Given the description of an element on the screen output the (x, y) to click on. 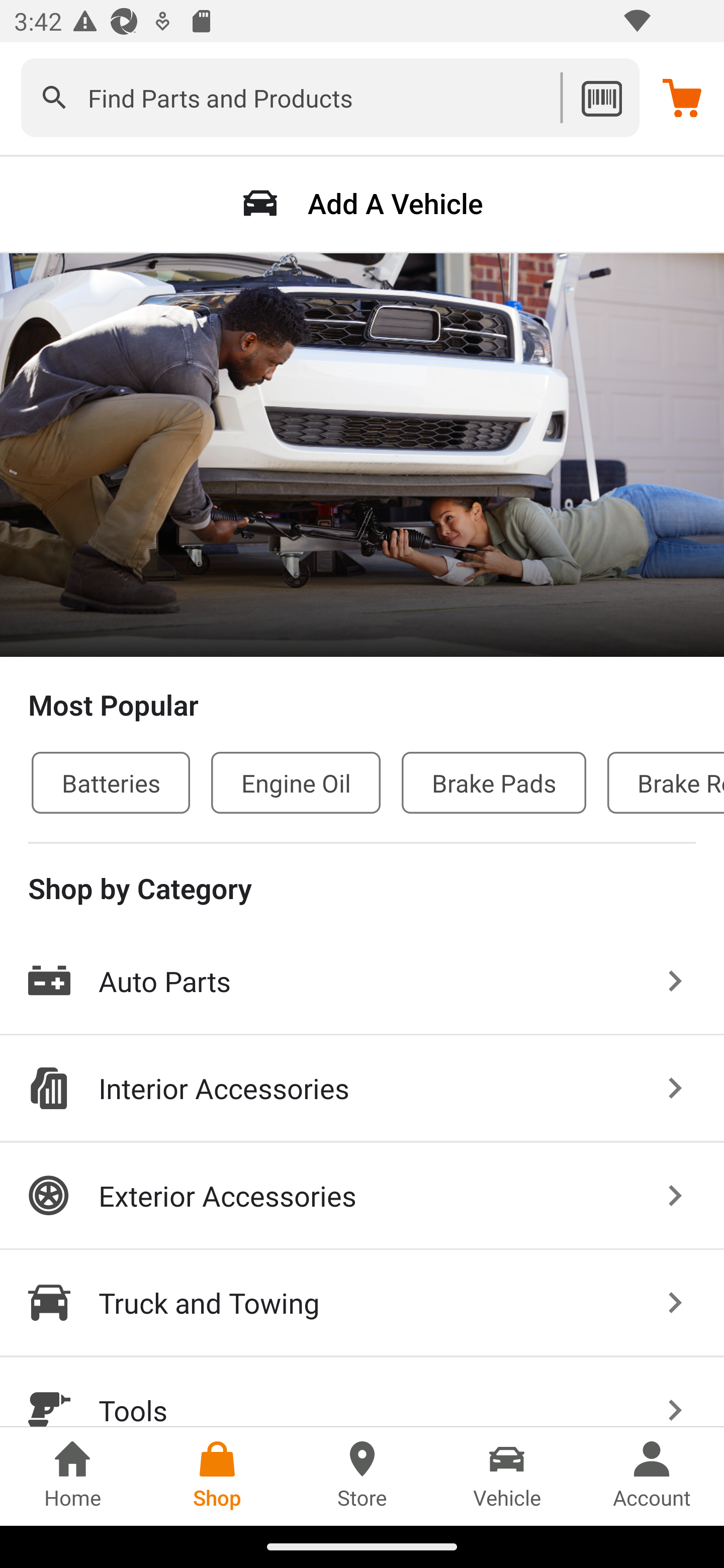
 scan-product-to-search  (601, 97)
 (54, 97)
Cart, no items  (681, 97)
add-vehicle-button  Add A Vehicle (362, 202)
Batteries (110, 782)
Engine Oil (295, 782)
Brake Pads (493, 782)
Brake Rotors (665, 782)
Auto Parts category  Auto Parts  (362, 981)
Truck and Towing category  Truck and Towing  (362, 1303)
Tools category  Tools  (362, 1391)
Home (72, 1475)
Shop (216, 1475)
Store (361, 1475)
Vehicle (506, 1475)
Account (651, 1475)
